Given the description of an element on the screen output the (x, y) to click on. 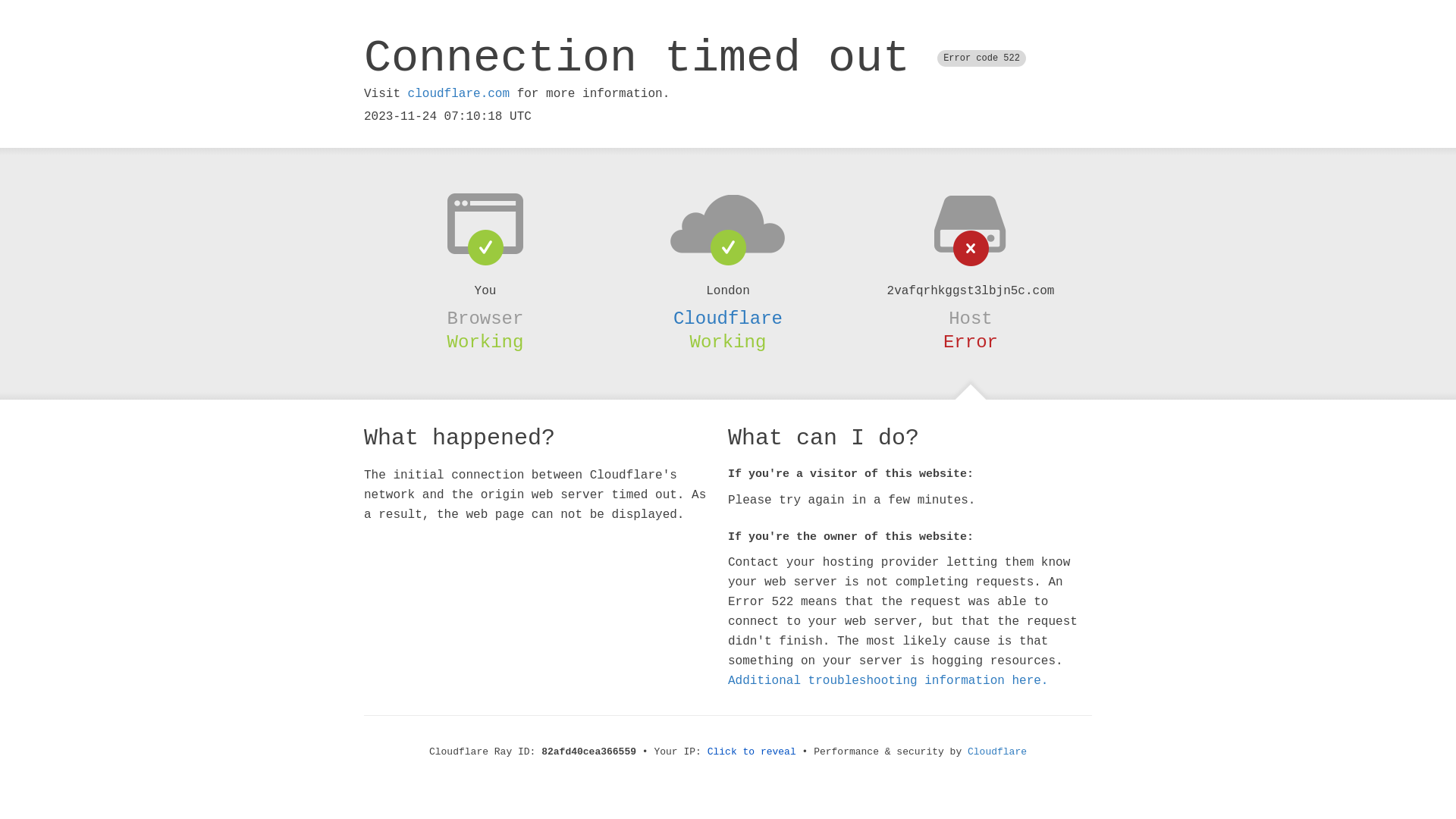
Cloudflare Element type: text (996, 751)
cloudflare.com Element type: text (458, 93)
Additional troubleshooting information here. Element type: text (888, 680)
Click to reveal Element type: text (751, 751)
Cloudflare Element type: text (727, 318)
